Given the description of an element on the screen output the (x, y) to click on. 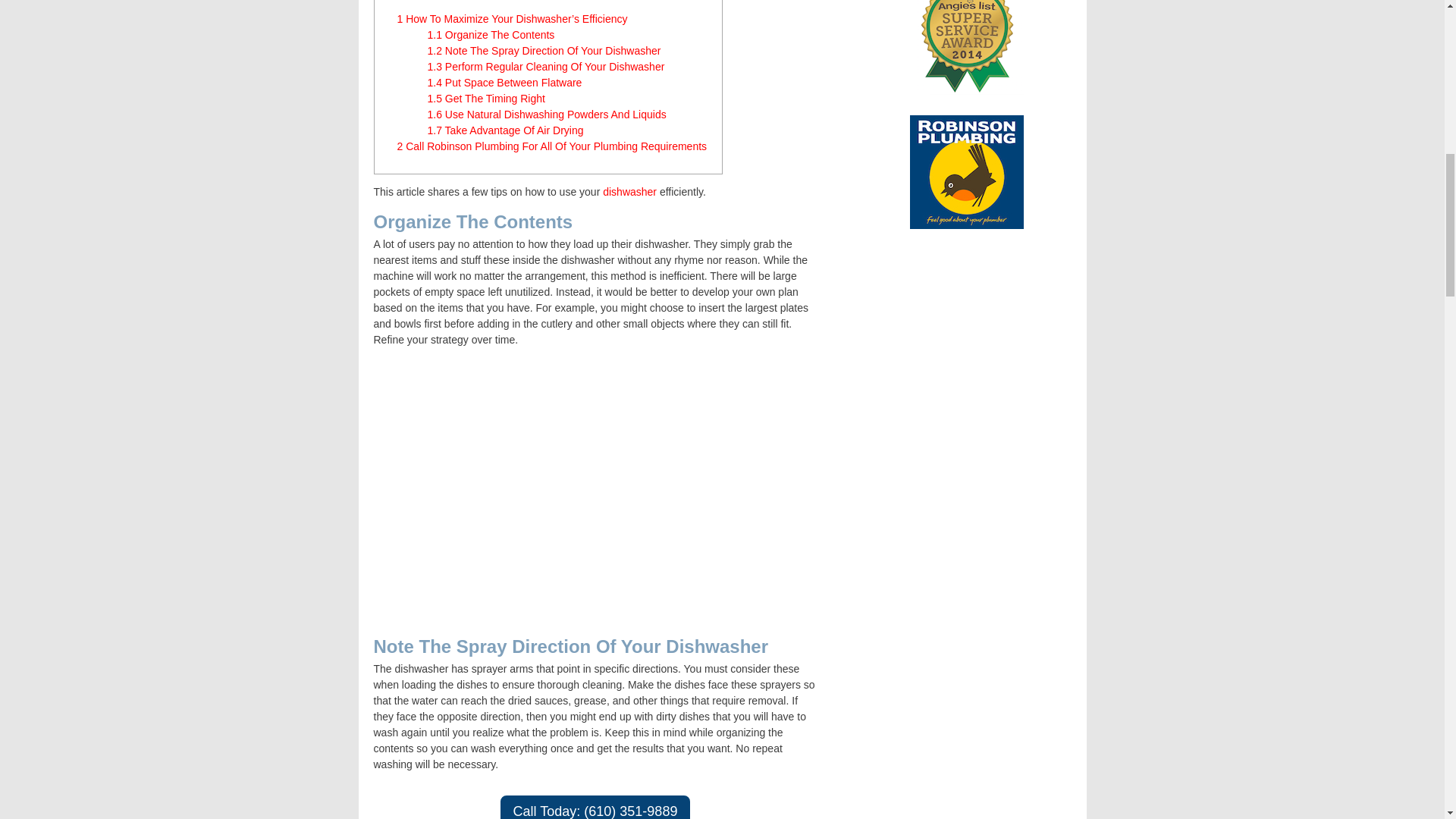
1.3 Perform Regular Cleaning Of Your Dishwasher (546, 66)
1.6 Use Natural Dishwashing Powders And Liquids (547, 114)
dishwasher (629, 191)
1.5 Get The Timing Right (486, 98)
1.1 Organize The Contents (491, 34)
1.2 Note The Spray Direction Of Your Dishwasher (544, 50)
1.4 Put Space Between Flatware (505, 82)
1.7 Take Advantage Of Air Drying (505, 130)
